Given the description of an element on the screen output the (x, y) to click on. 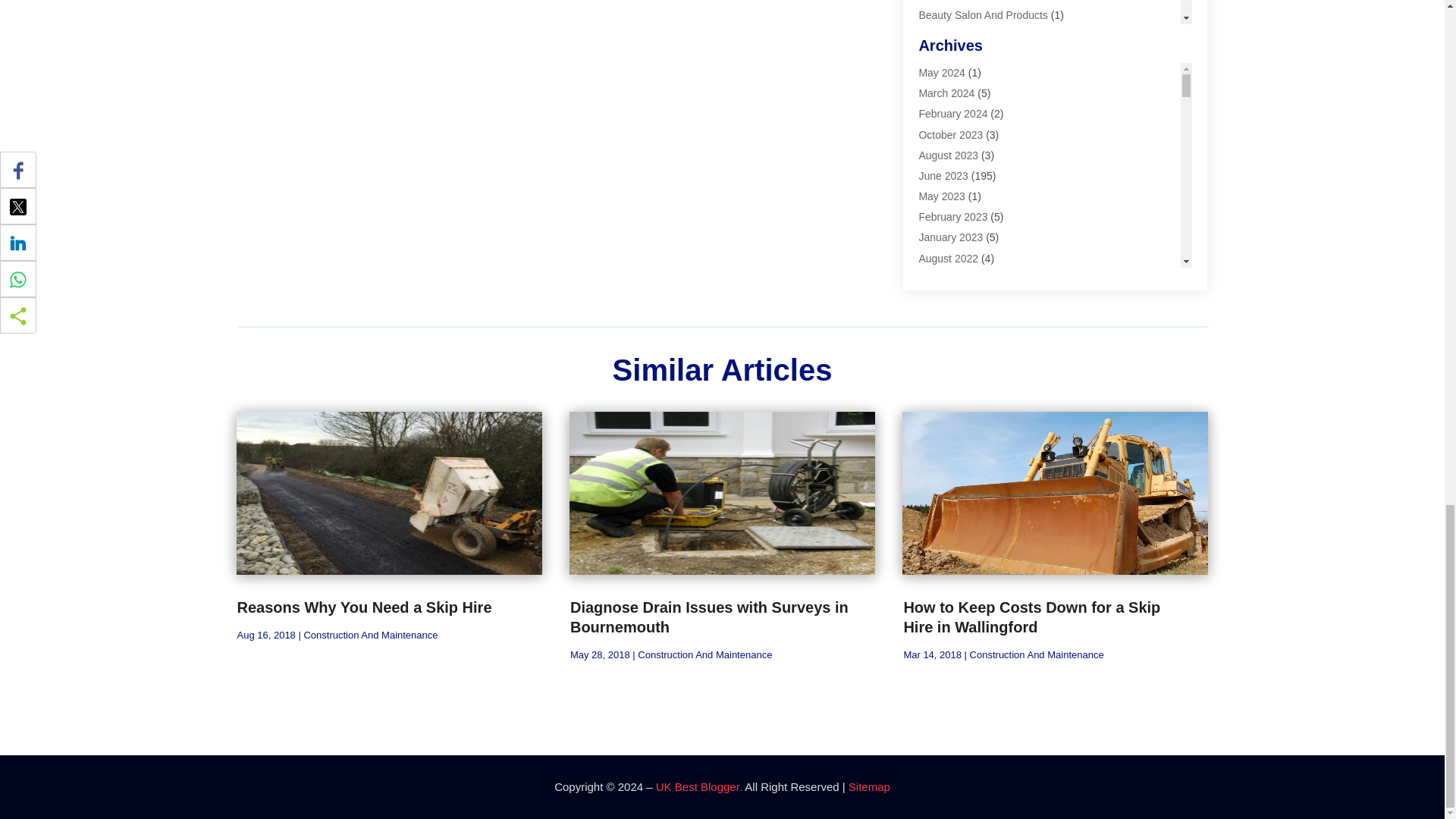
Business And Management (982, 118)
Builders (937, 76)
Boiler Service (951, 55)
Blinds (932, 35)
Beauty Salon And Products (982, 15)
Business (939, 96)
